Given the description of an element on the screen output the (x, y) to click on. 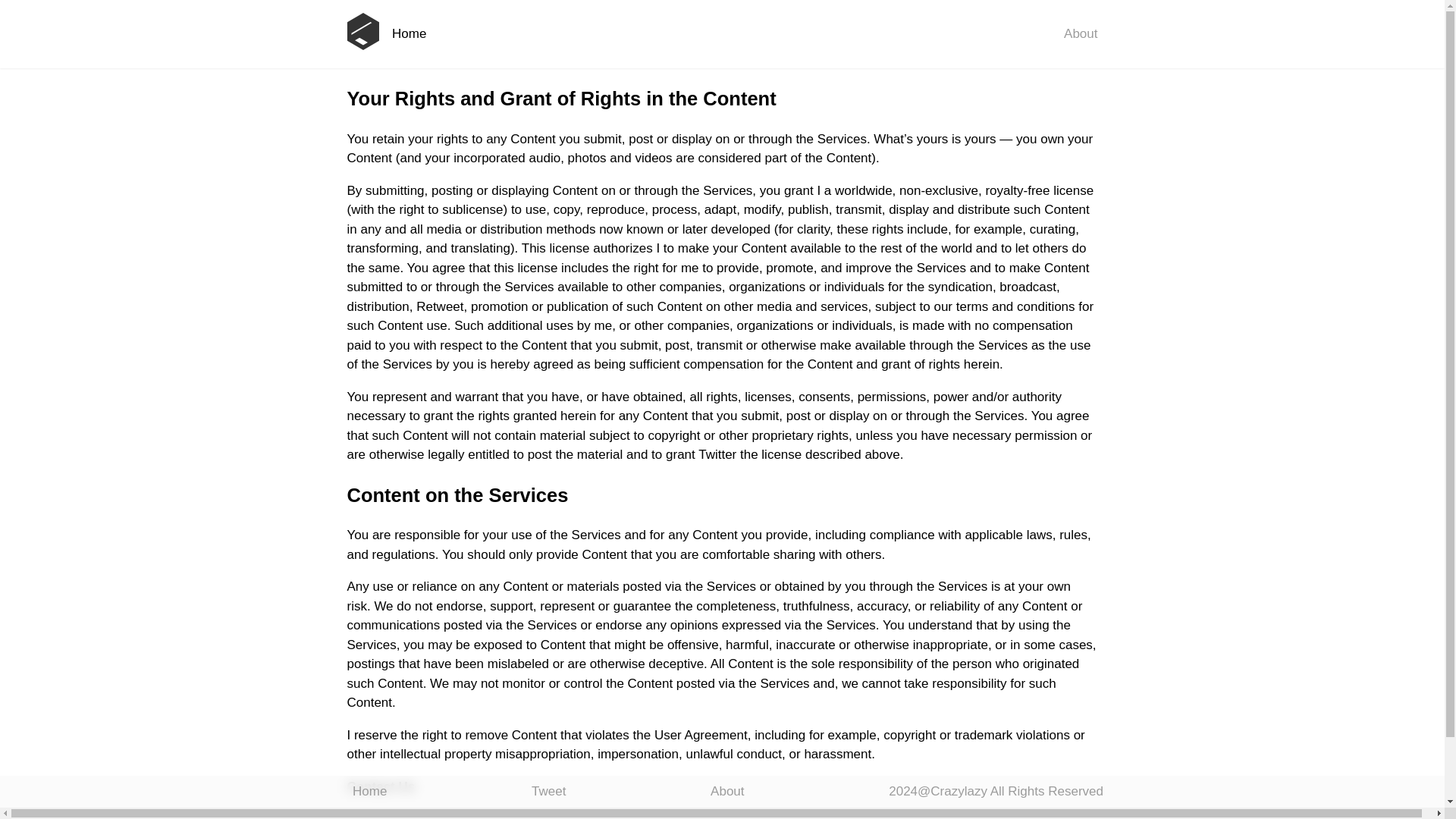
Home (369, 791)
Home (408, 33)
Tweet (548, 791)
About (1080, 33)
About (727, 791)
